Given the description of an element on the screen output the (x, y) to click on. 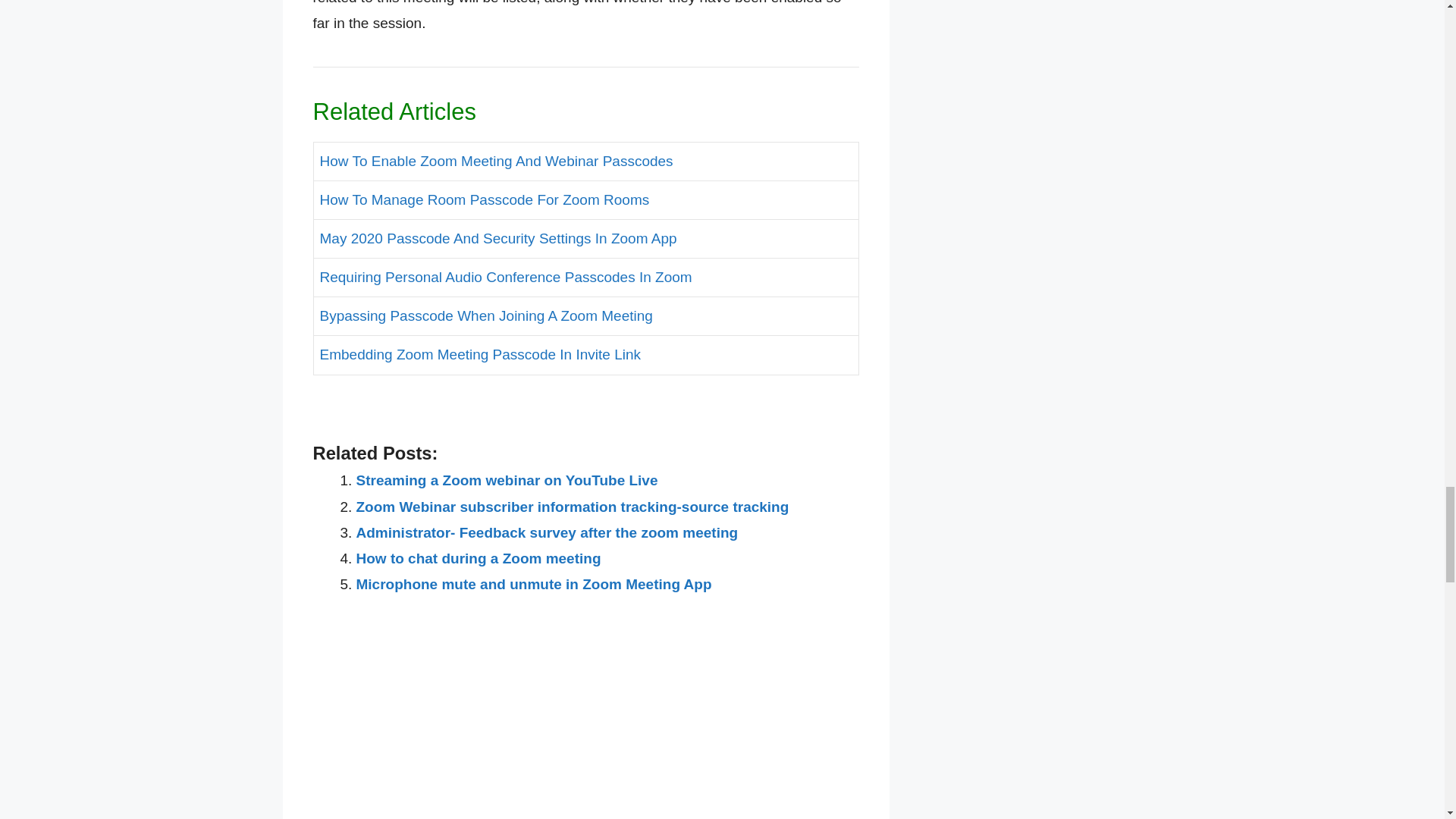
Administrator- Feedback survey after the zoom meeting (547, 532)
How to chat during a Zoom meeting (478, 558)
Streaming a Zoom webinar on YouTube Live (507, 480)
Zoom Webinar subscriber information tracking-source tracking (572, 506)
